Given the description of an element on the screen output the (x, y) to click on. 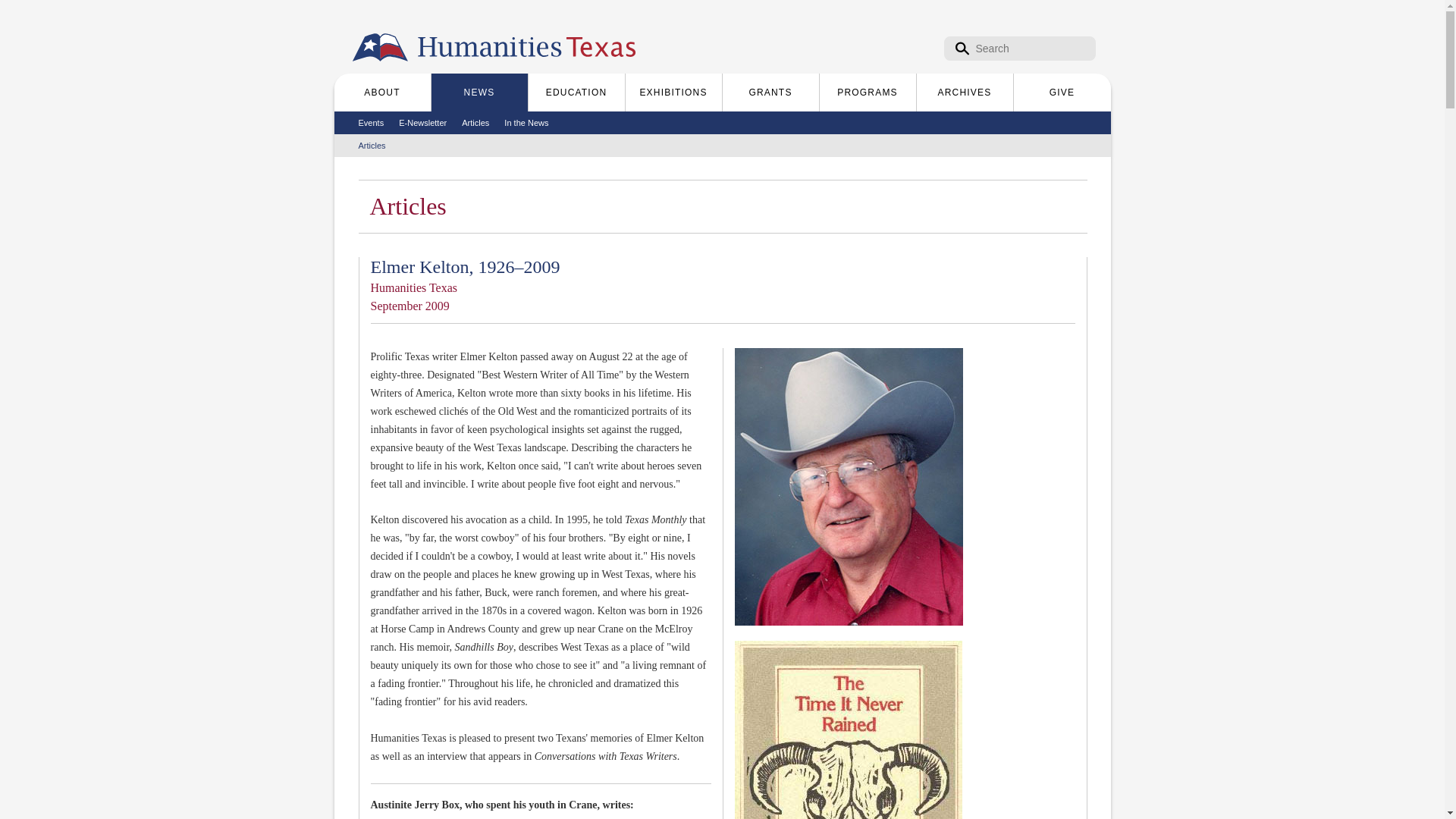
Articles (371, 145)
NEWS (478, 92)
Home (379, 47)
Home (527, 47)
EDUCATION (575, 92)
PROGRAMS (866, 92)
Enter the terms you wish to search for. (1018, 48)
Events (371, 122)
In the News (525, 122)
